Given the description of an element on the screen output the (x, y) to click on. 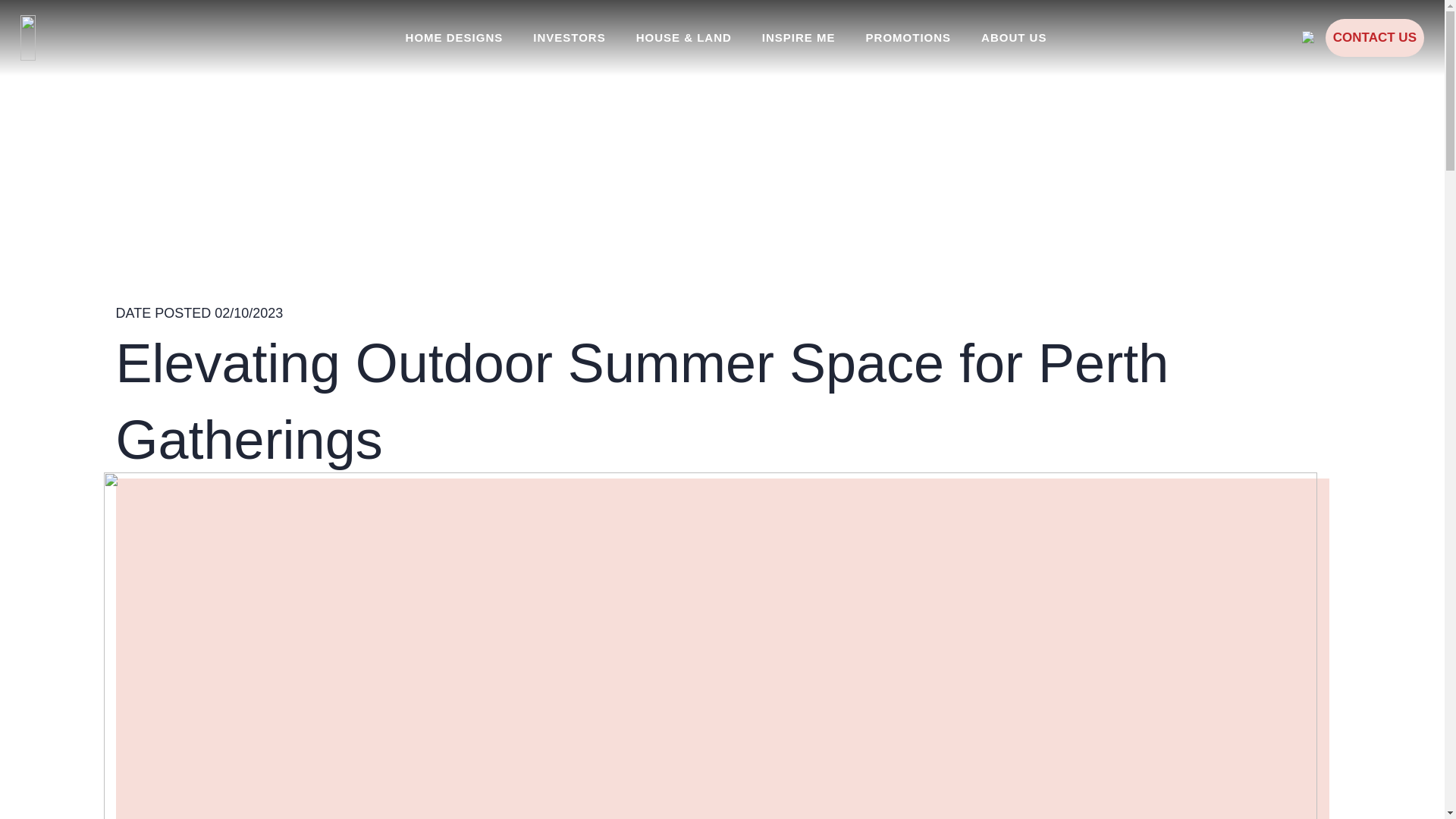
HOME DESIGNS (454, 38)
CONTACT US (1373, 37)
ABOUT US (1013, 38)
INSPIRE ME (798, 38)
INVESTORS (569, 38)
PROMOTIONS (908, 38)
